Given the description of an element on the screen output the (x, y) to click on. 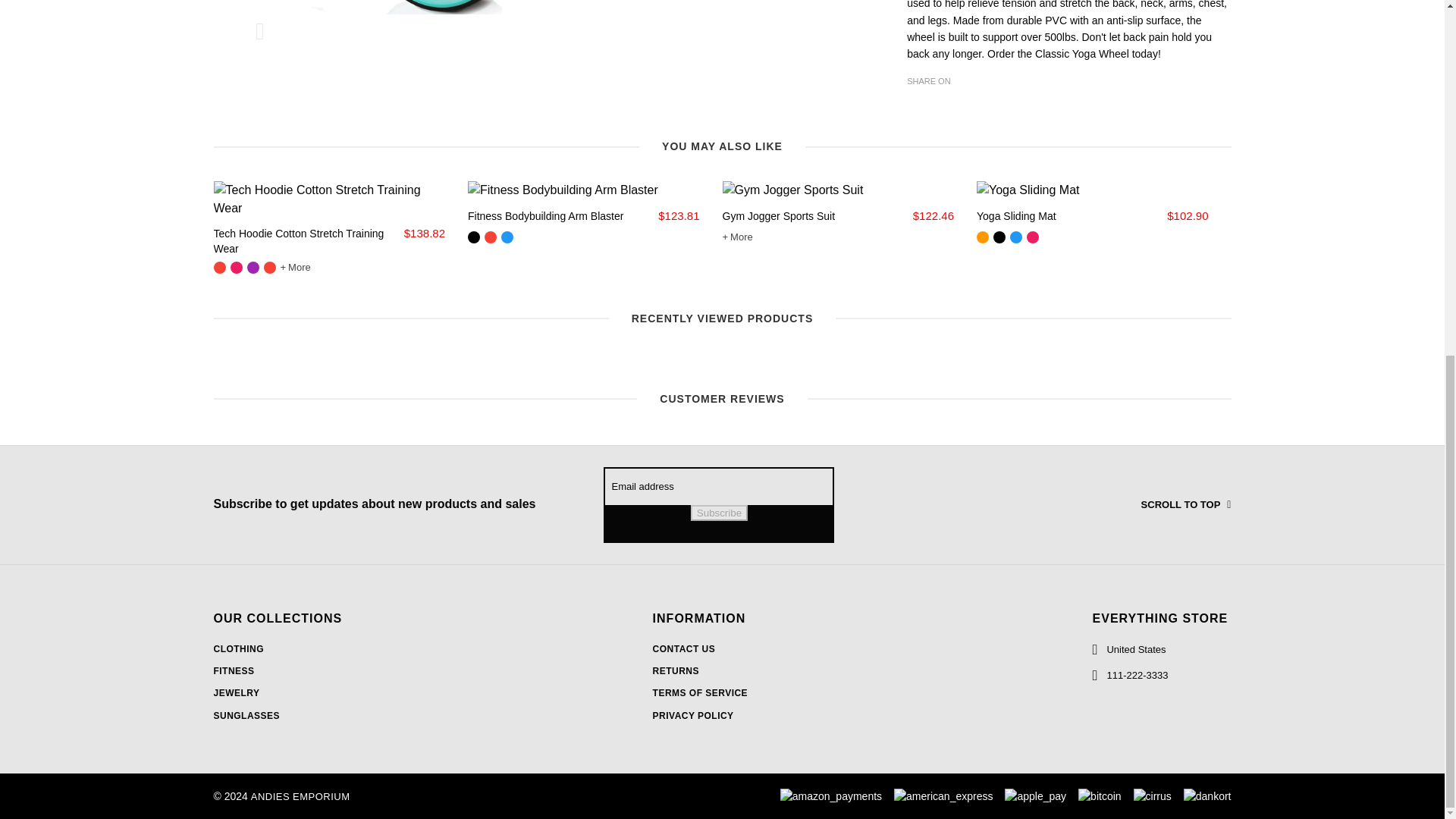
SCROLL TO TOP (1146, 504)
Subscribe (719, 512)
Pin on Pinterest (961, 107)
Tweet on Twitter (938, 107)
Share on Facebook (915, 107)
